Given the description of an element on the screen output the (x, y) to click on. 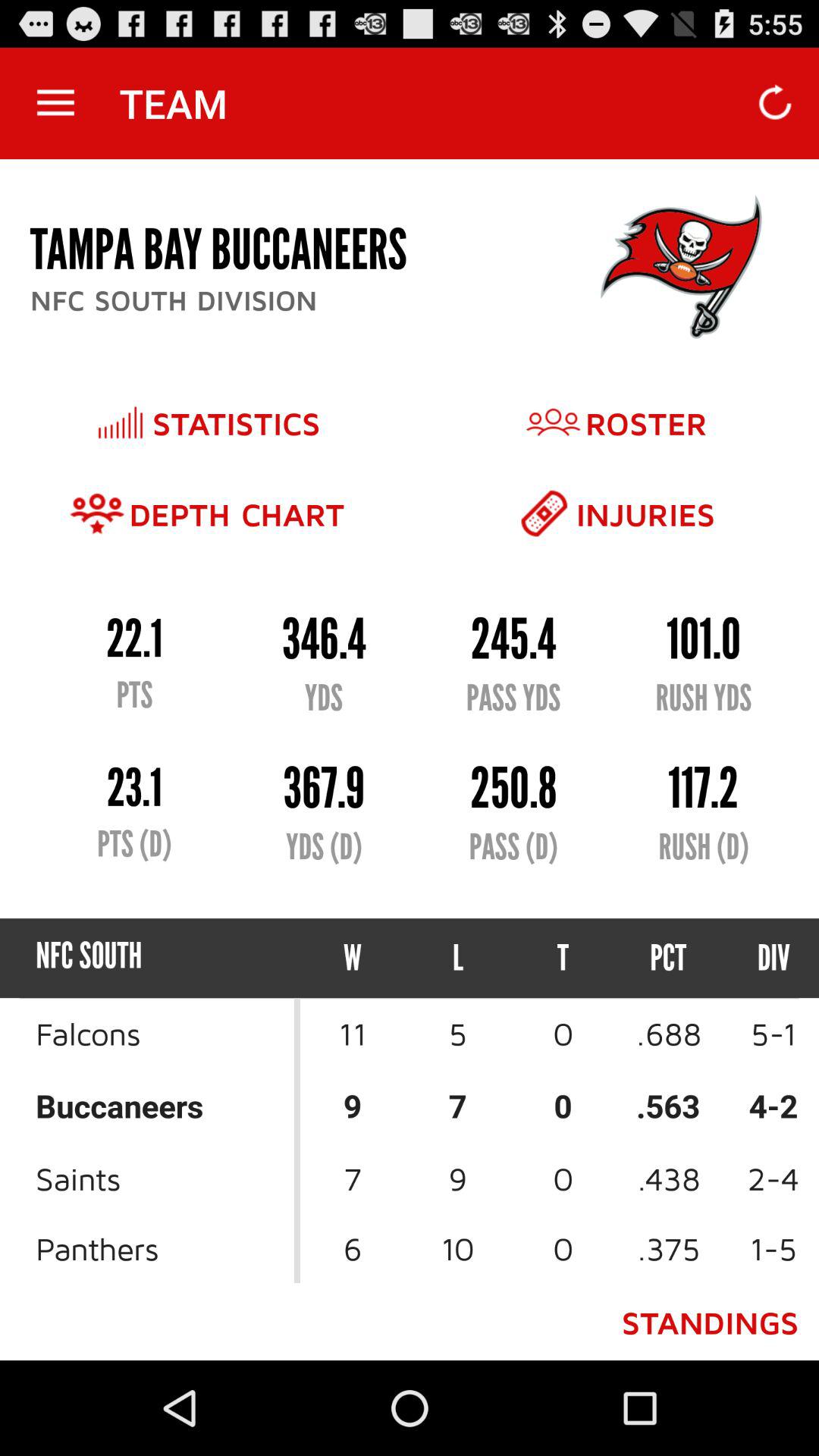
launch icon next to w icon (457, 958)
